Given the description of an element on the screen output the (x, y) to click on. 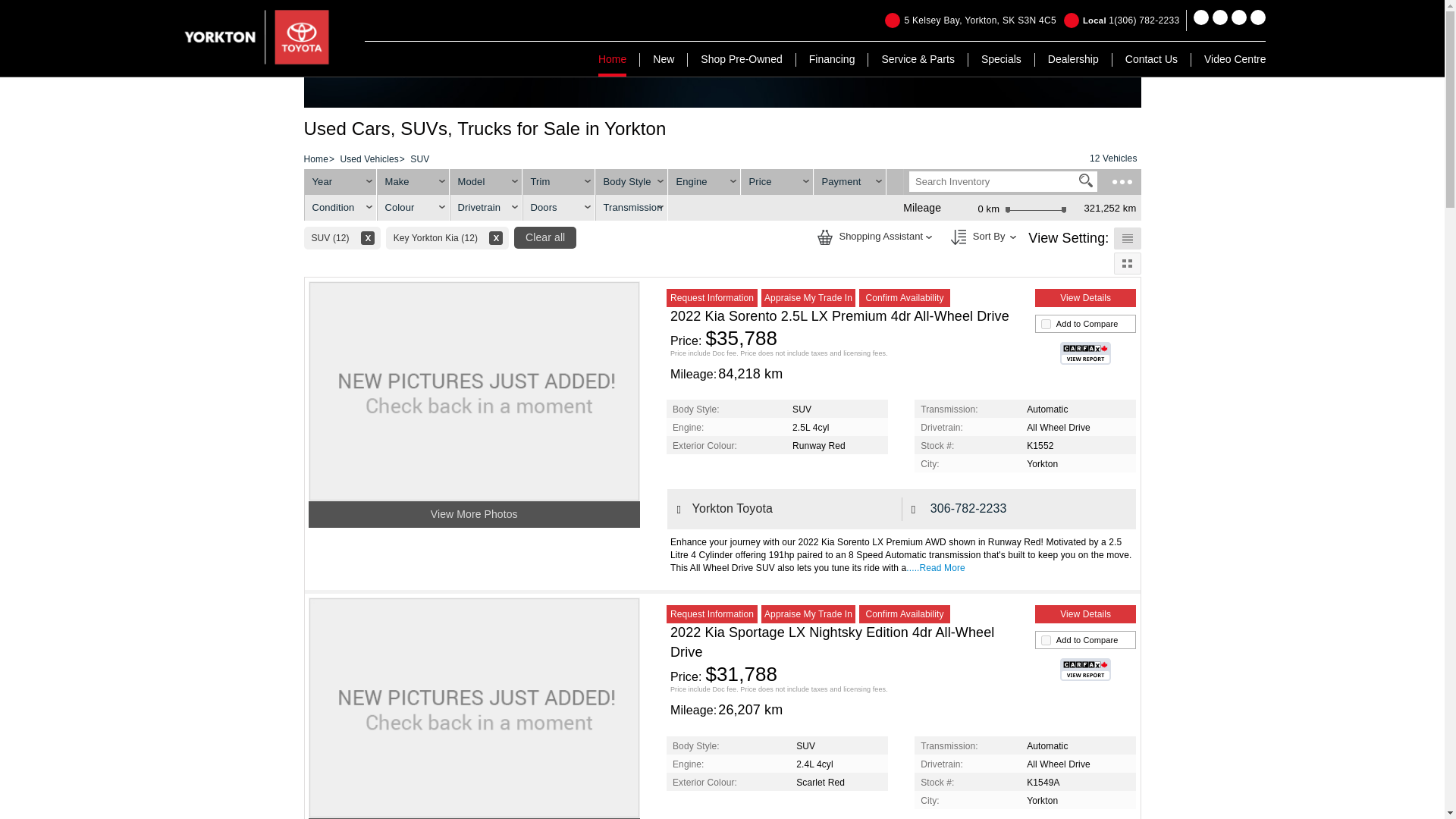
Financing (832, 58)
unchecked (1046, 324)
Shop Pre-Owned (740, 58)
unchecked (1046, 640)
Shopping Assistant (970, 20)
Grid View (824, 237)
Sort By (1127, 262)
Search (958, 237)
Listing View (1085, 180)
